Given the description of an element on the screen output the (x, y) to click on. 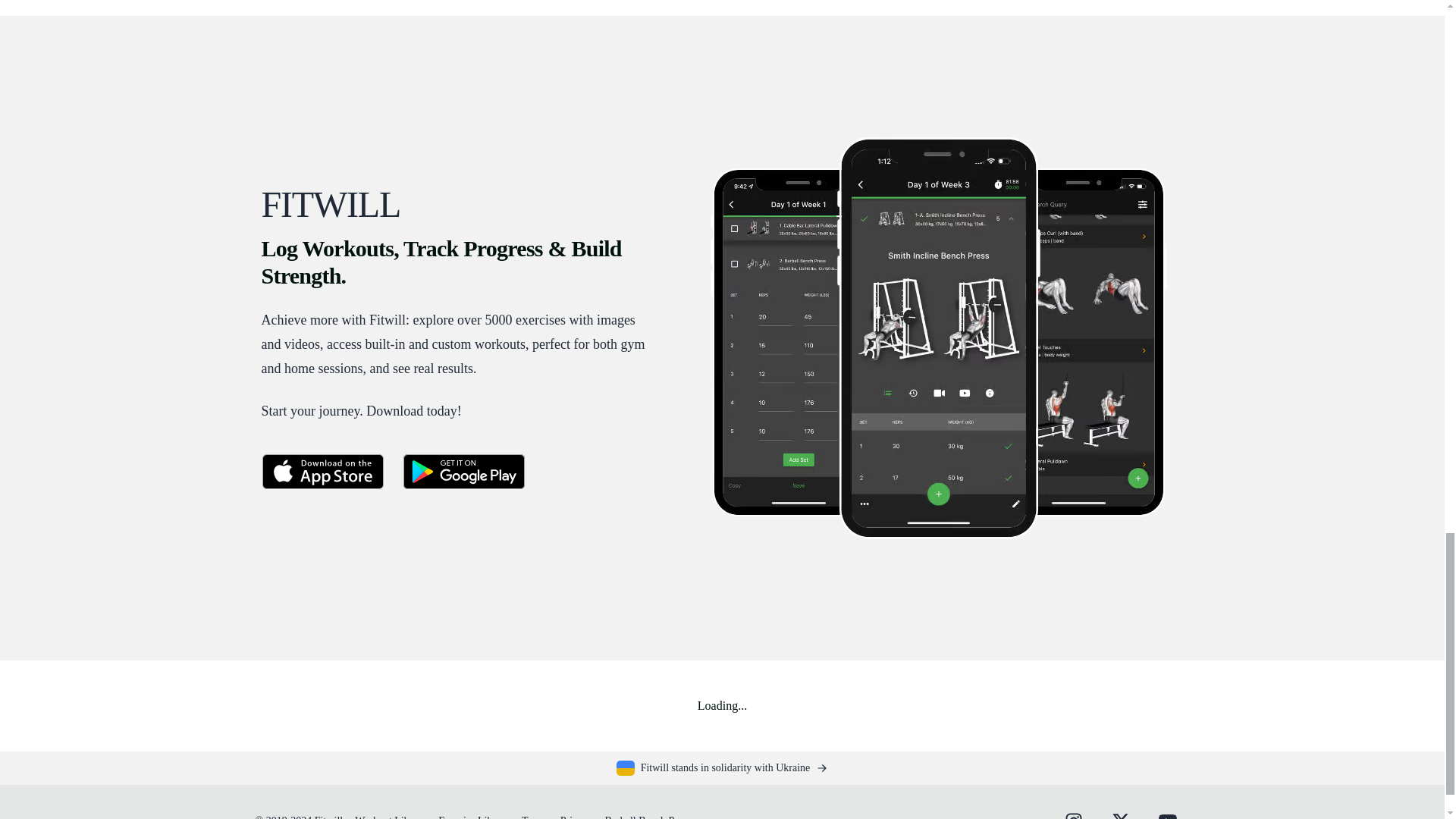
Workout Library (390, 816)
Fitwill: Instagram (1072, 811)
Fitwill: YouTube (1166, 811)
Fitwill stands in solidarity with Ukraine (721, 768)
Support Ukraine (721, 768)
Exercise Library (473, 816)
Fitwill: X (1119, 811)
Barbell Bench Press (648, 816)
Privacy (576, 816)
Get Fitwill on Google Play (462, 471)
